Given the description of an element on the screen output the (x, y) to click on. 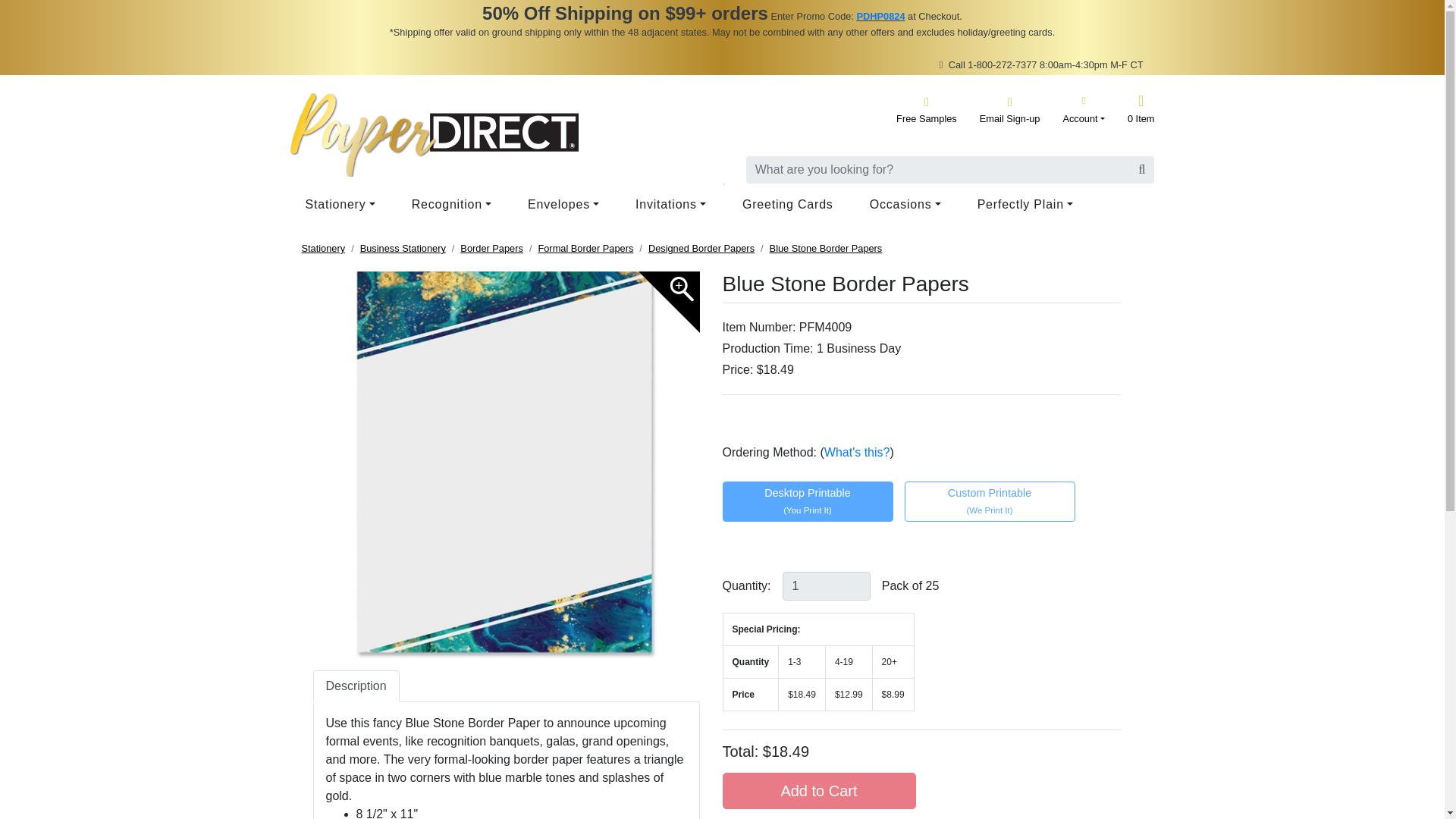
Stationery (342, 204)
Account (1083, 109)
PDHP0824 (880, 16)
1 (826, 585)
